Given the description of an element on the screen output the (x, y) to click on. 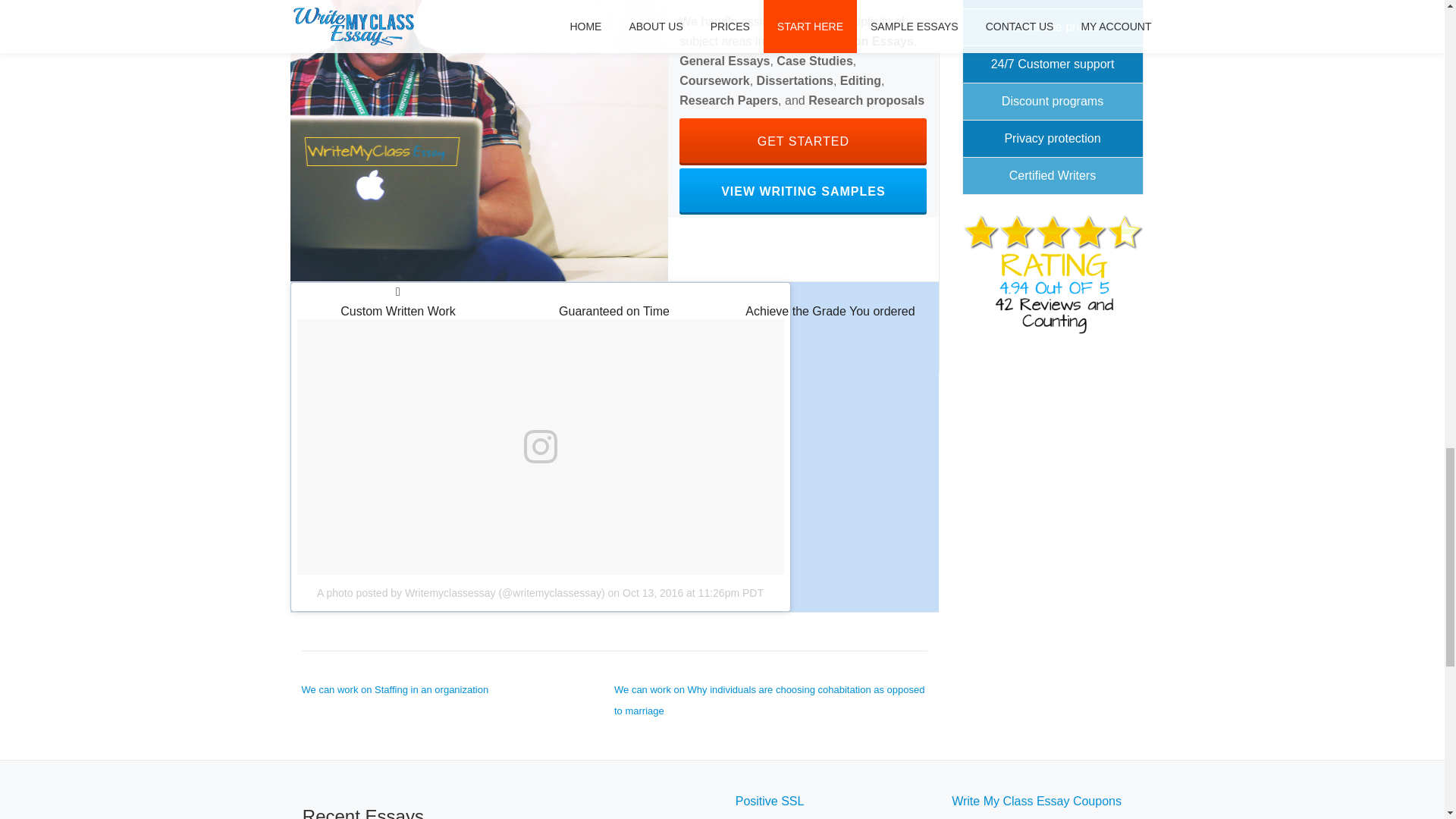
Write My Class Essay Coupons (802, 141)
We can work on Staffing in an organization (1036, 800)
Positive SSL (395, 689)
 View Client Testimonials (802, 141)
